Given the description of an element on the screen output the (x, y) to click on. 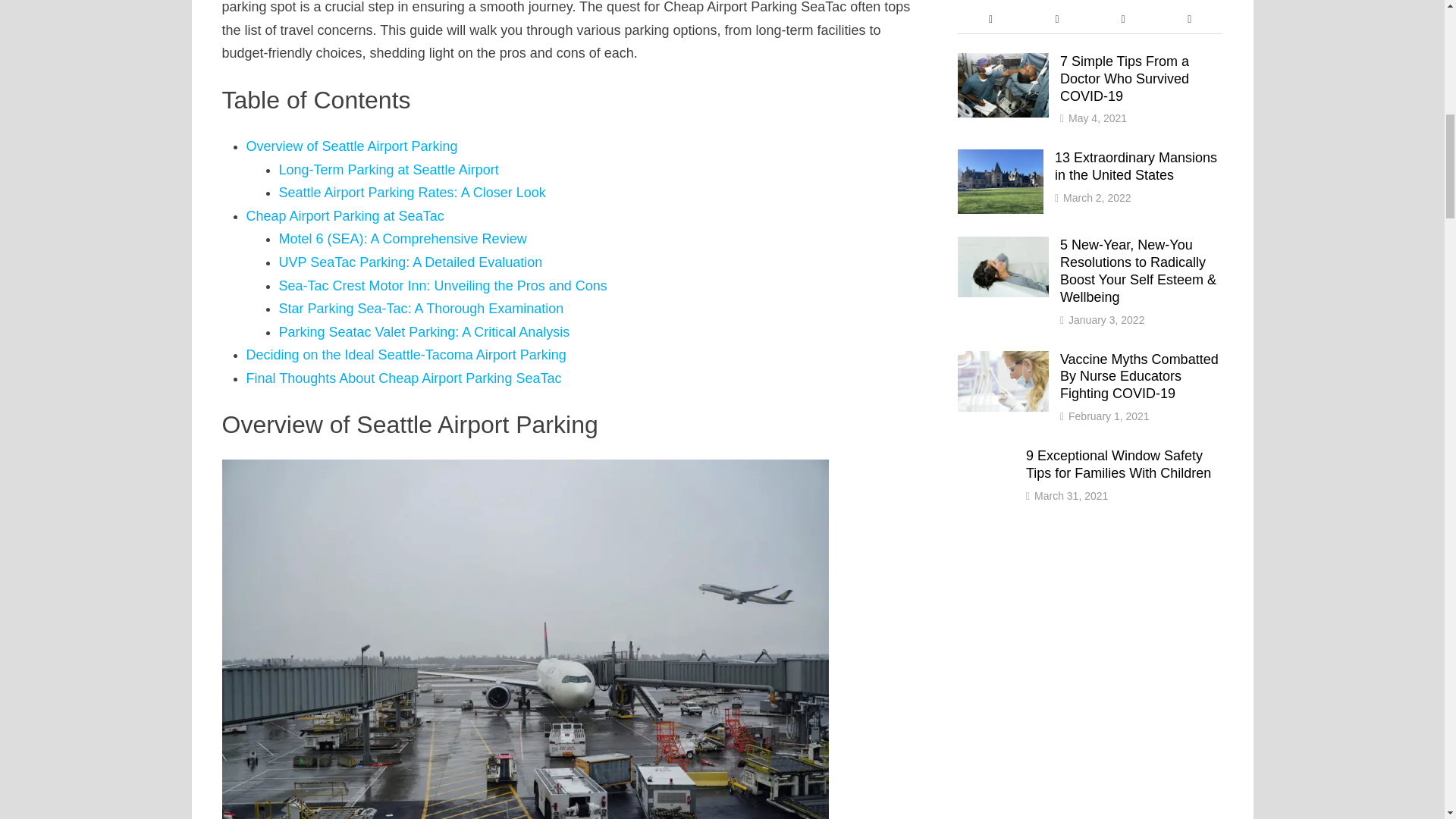
7 Simple Tips From a Doctor Who Survived COVID-19 (1003, 62)
Vaccine Myths Combatted By Nurse Educators Fighting COVID-19 (1003, 360)
9 Exceptional Window Safety Tips for Families With Children (986, 457)
Long-Term Parking at Seattle Airport (389, 169)
Seattle Airport Parking Rates: A Closer Look (412, 192)
Cheap Airport Parking at SeaTac (345, 215)
Overview of Seattle Airport Parking (351, 145)
13 Extraordinary Mansions in the United States (1000, 159)
